Given the description of an element on the screen output the (x, y) to click on. 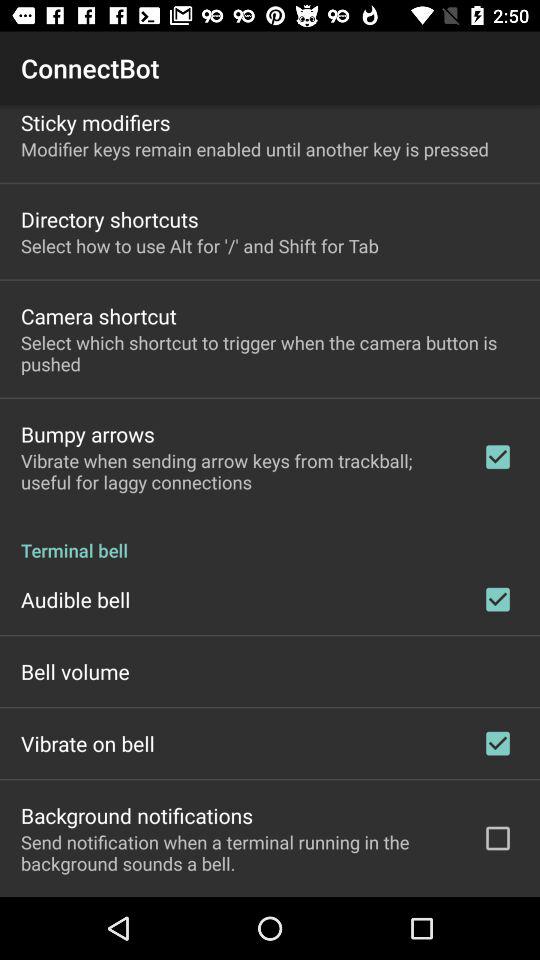
scroll until the vibrate when sending item (238, 471)
